Given the description of an element on the screen output the (x, y) to click on. 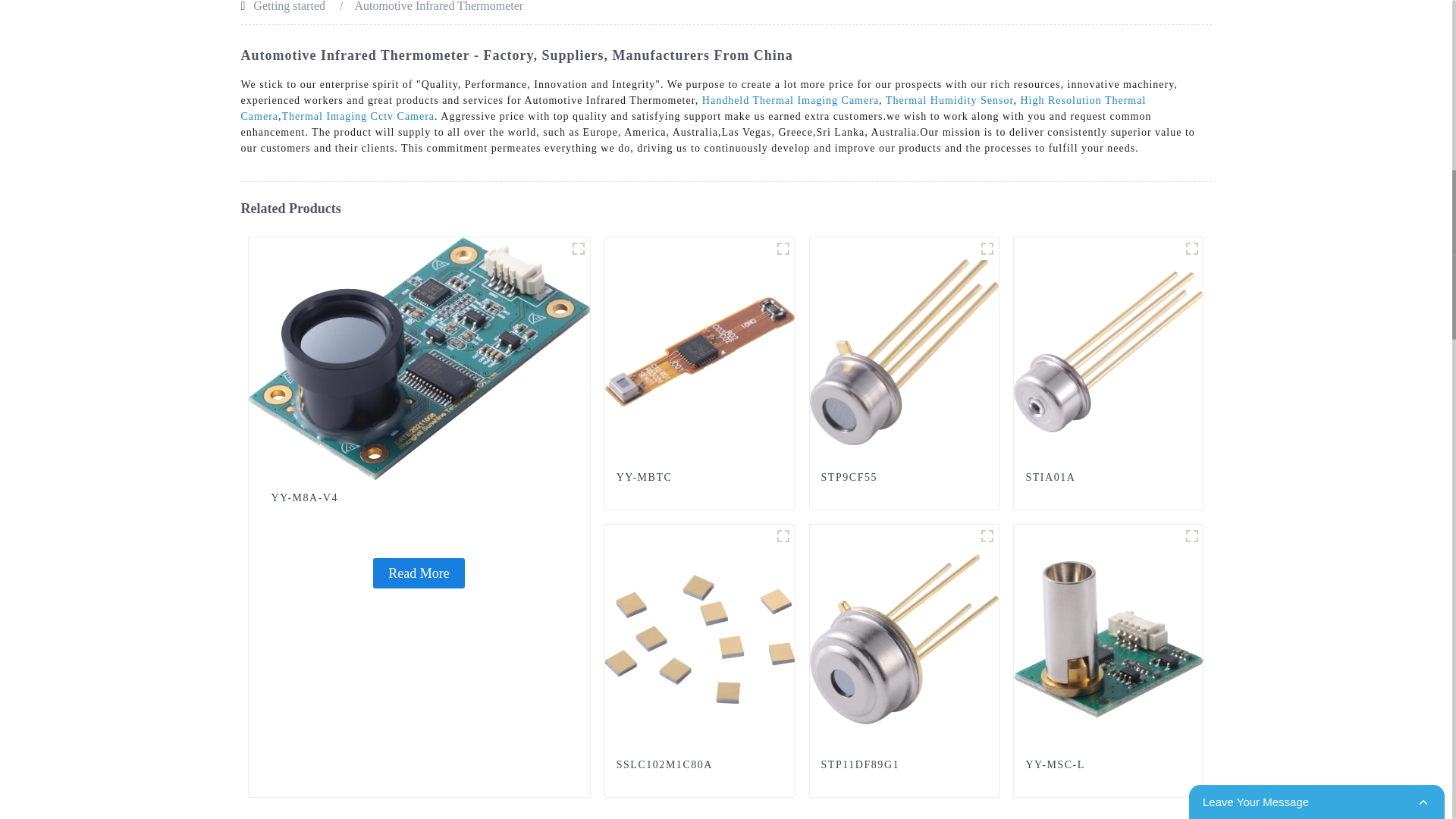
YY-MBTC (699, 477)
YY-M8A V4 (578, 248)
Automotive Infrared Thermometer (437, 6)
YY-MBTC (699, 350)
Getting started (288, 6)
Thermal Humidity Sensor (949, 100)
YY-M8A-V4 (418, 498)
Handheld Thermal Imaging Camera (790, 100)
YY-M8A-V4 (418, 572)
SSLC102M1C80A (699, 637)
